Given the description of an element on the screen output the (x, y) to click on. 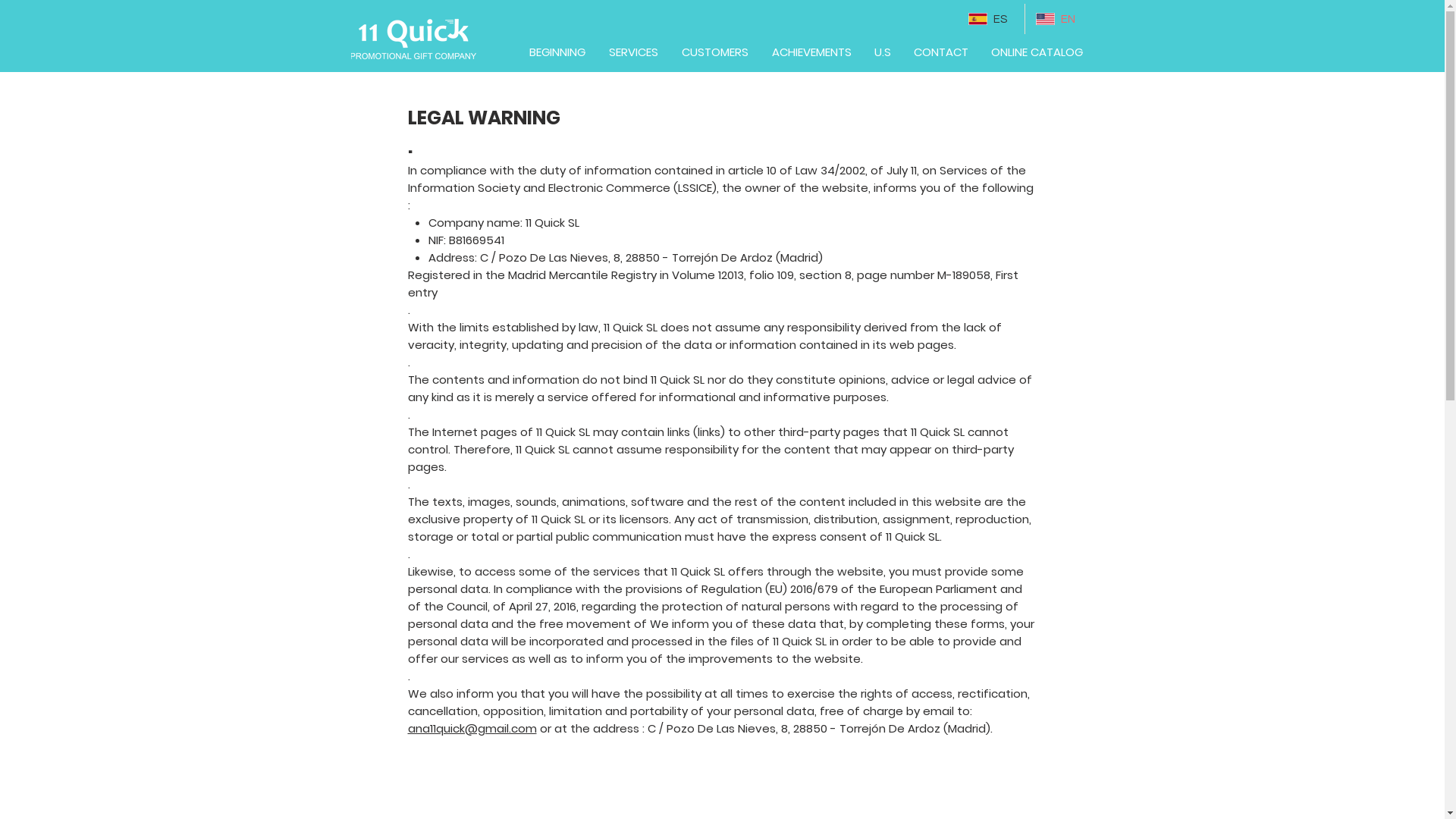
CUSTOMERS Element type: text (715, 52)
SERVICES Element type: text (633, 52)
ES Element type: text (990, 18)
ACHIEVEMENTS Element type: text (810, 52)
ONLINE CATALOG Element type: text (1036, 52)
ana11quick@gmail.com Element type: text (471, 728)
BEGINNING Element type: text (556, 52)
U.S Element type: text (882, 52)
EN Element type: text (1057, 18)
CONTACT Element type: text (940, 52)
